Given the description of an element on the screen output the (x, y) to click on. 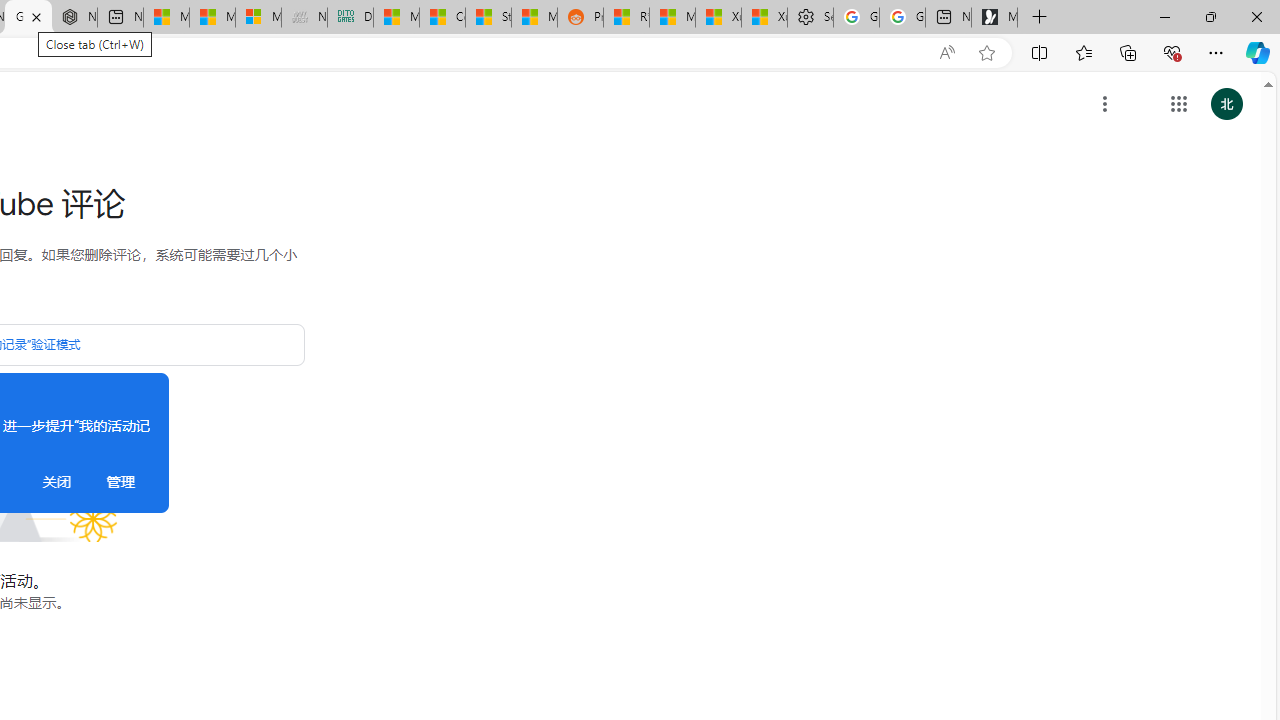
MSNBC - MSN (395, 17)
Navy Quest (303, 17)
